Given the description of an element on the screen output the (x, y) to click on. 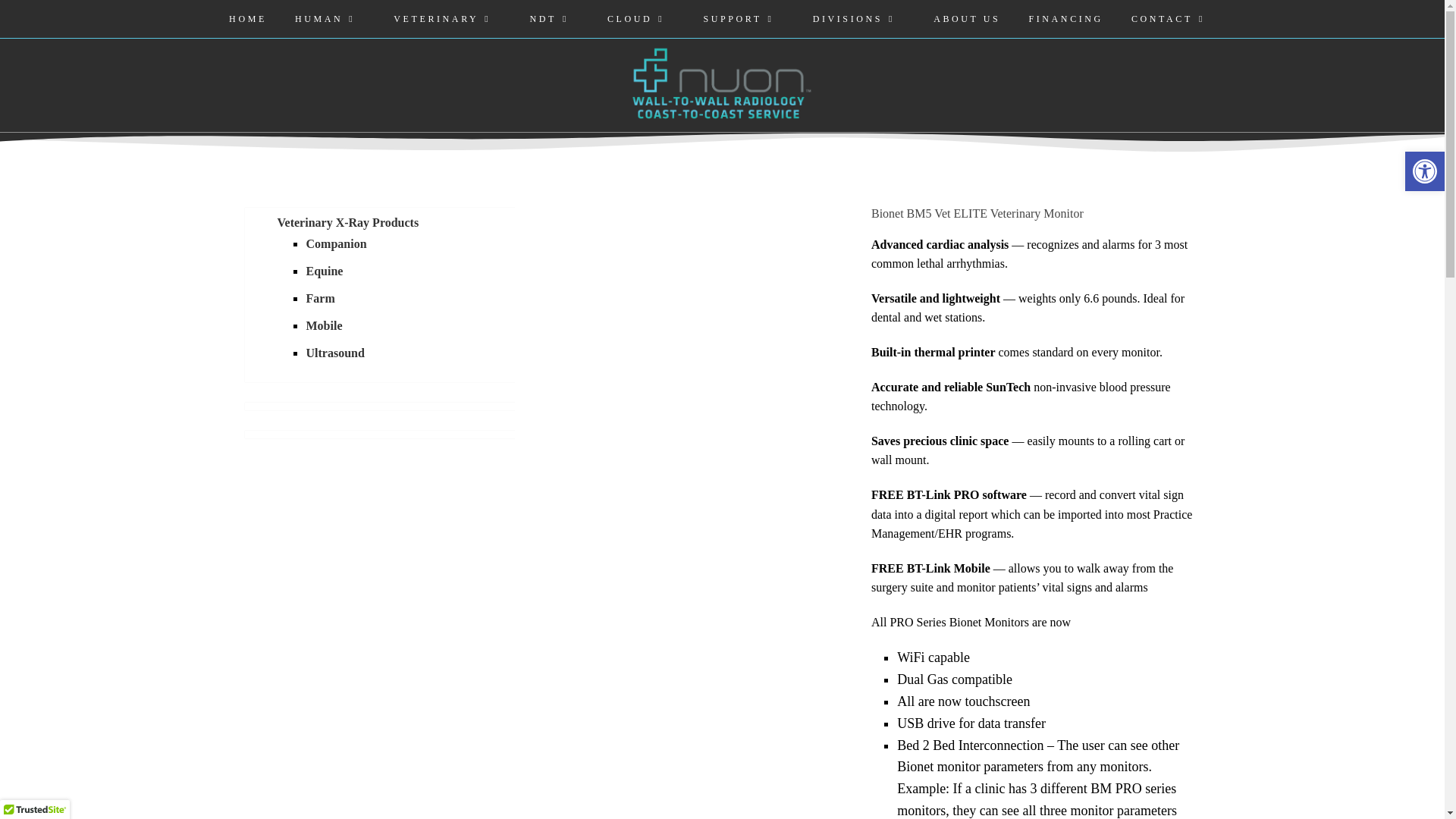
SUPPORT (743, 18)
FINANCING (1065, 18)
HOME (247, 18)
HUMAN (329, 18)
DIVISIONS (858, 18)
Accessibility Tools (1424, 170)
TrustedSite Certified (34, 809)
CLOUD (641, 18)
VETERINARY (446, 18)
NDT (553, 18)
Accessibility Tools (1424, 170)
CONTACT (1173, 18)
ABOUT US (966, 18)
